Given the description of an element on the screen output the (x, y) to click on. 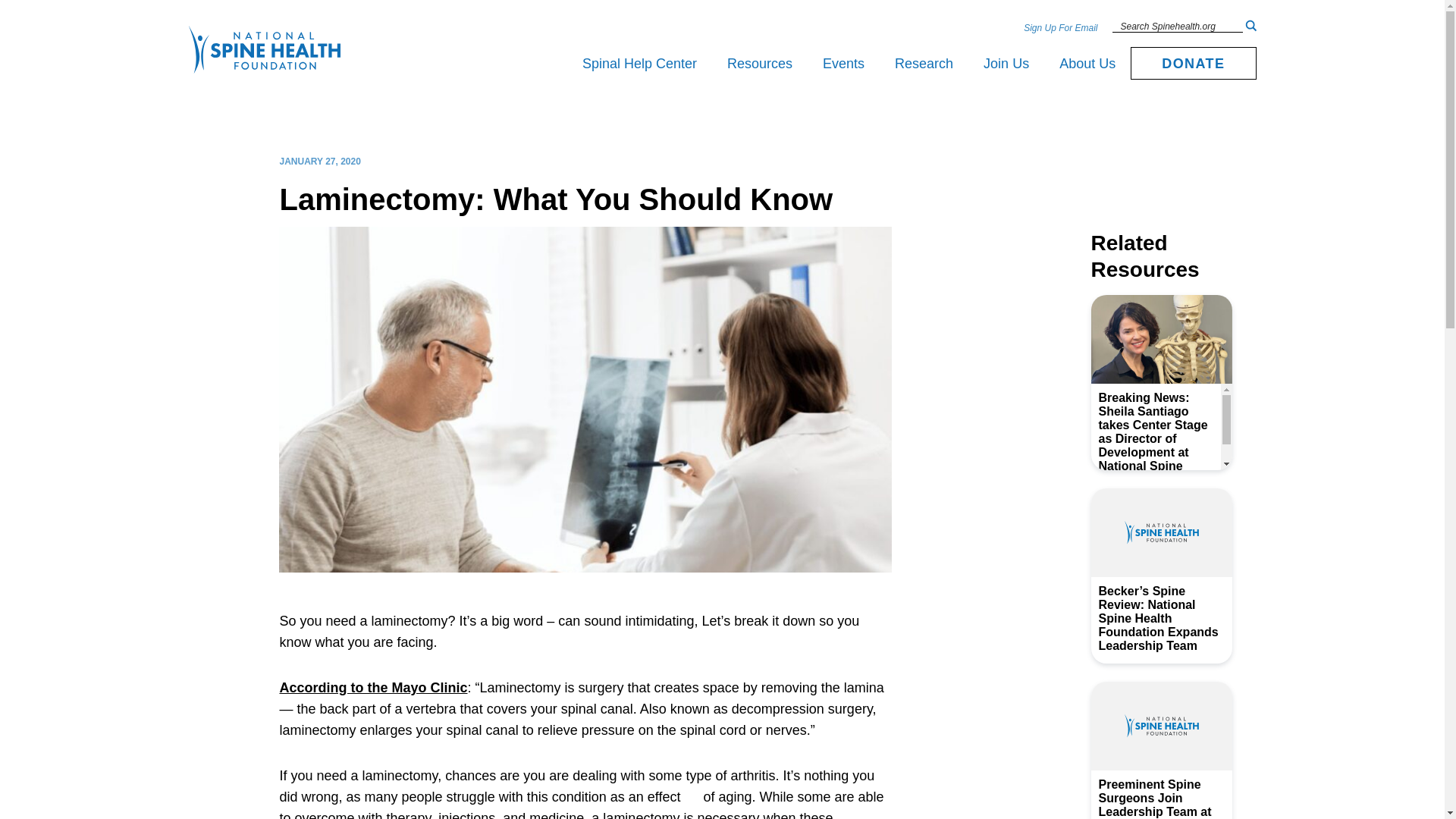
Spinal Help Center (639, 63)
About Us (1087, 63)
Events (843, 63)
Sign Up For Email (1060, 27)
Join Us (1005, 63)
Spinal Help Center (639, 63)
Resources (759, 63)
Join Us (1005, 63)
Events (843, 63)
Research (923, 63)
